Given the description of an element on the screen output the (x, y) to click on. 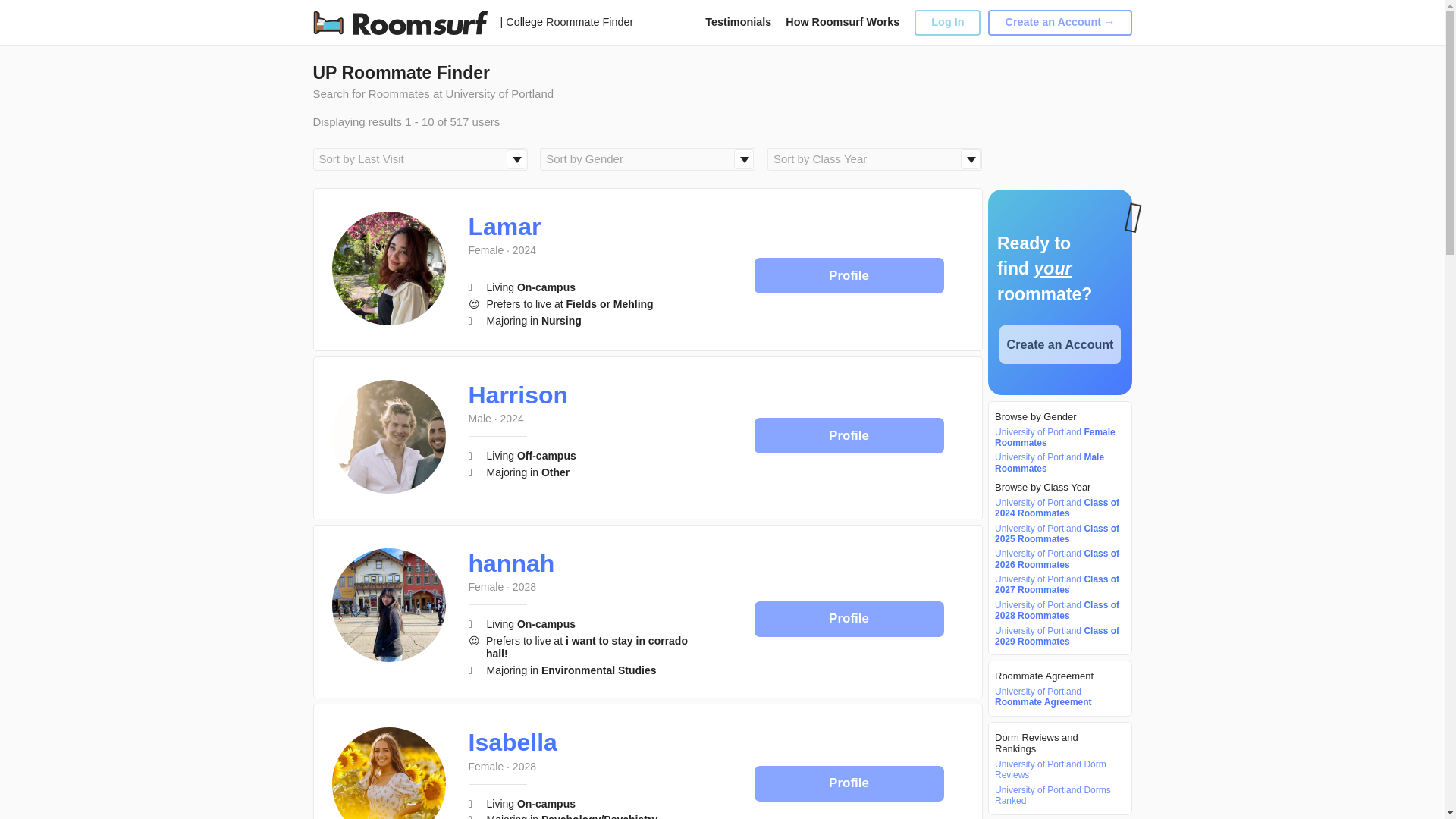
Profile (848, 435)
Profile (848, 435)
Harrison (518, 394)
Male (480, 418)
Log In (946, 22)
2024 (523, 250)
Profile (848, 275)
How Roomsurf Works (842, 21)
Testimonials (737, 21)
Lamar (504, 226)
